Given the description of an element on the screen output the (x, y) to click on. 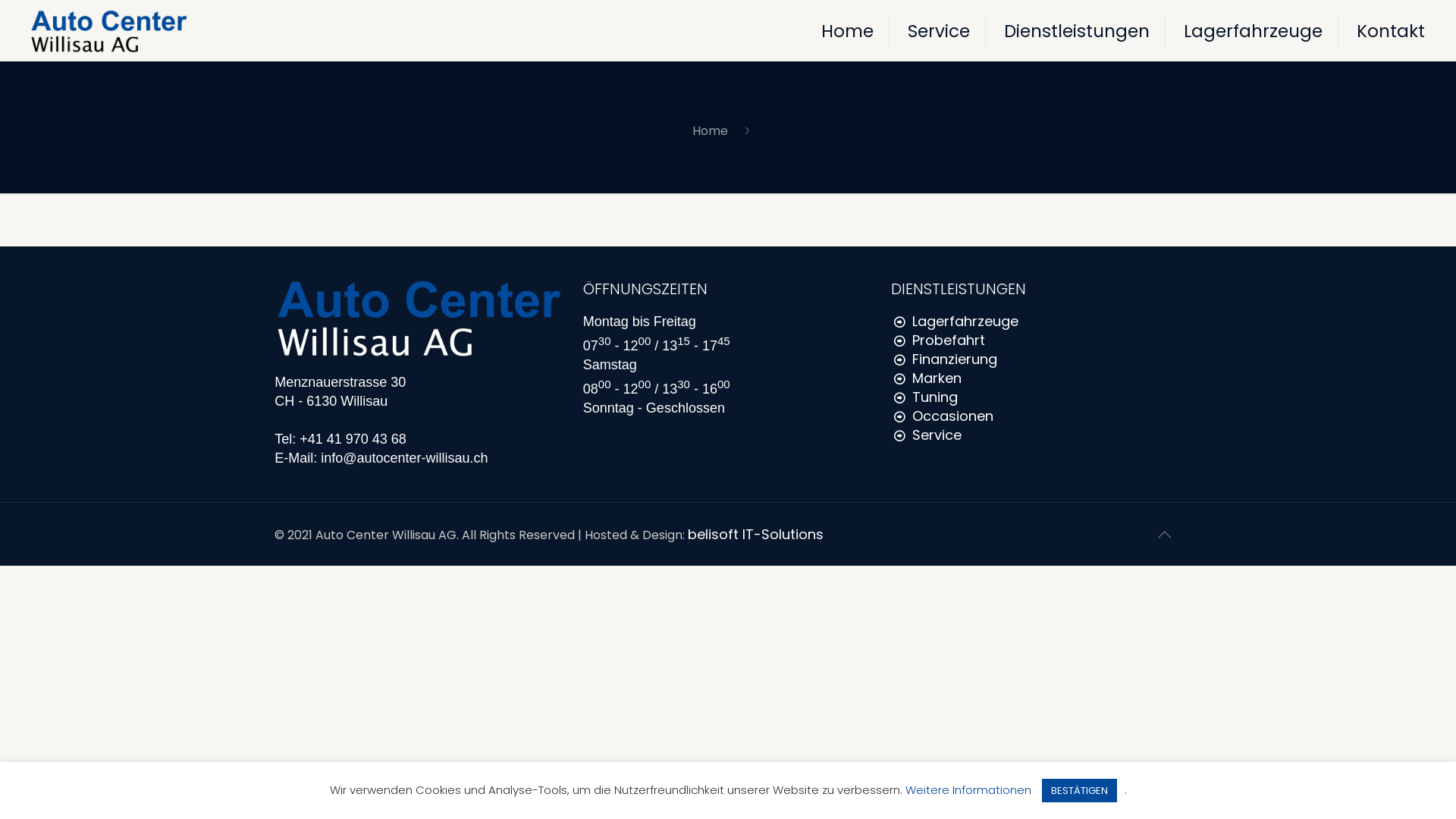
Lagerfahrzeuge Element type: text (963, 320)
Marken Element type: text (934, 377)
Service Element type: text (938, 31)
Occasionen Element type: text (950, 415)
Autocenter Willisau Element type: hover (108, 30)
Service Element type: text (934, 434)
Weitere Informationen Element type: text (968, 789)
Kontakt Element type: text (1390, 31)
belisoft IT-Solutions Element type: text (755, 533)
Tuning Element type: text (932, 396)
Probefahrt Element type: text (946, 339)
Dienstleistungen Element type: text (1076, 31)
Finanzierung Element type: text (952, 358)
Home Element type: text (710, 130)
info@autocenter-willisau.ch Element type: text (403, 457)
Home Element type: text (847, 31)
Lagerfahrzeuge Element type: text (1253, 31)
